Given the description of an element on the screen output the (x, y) to click on. 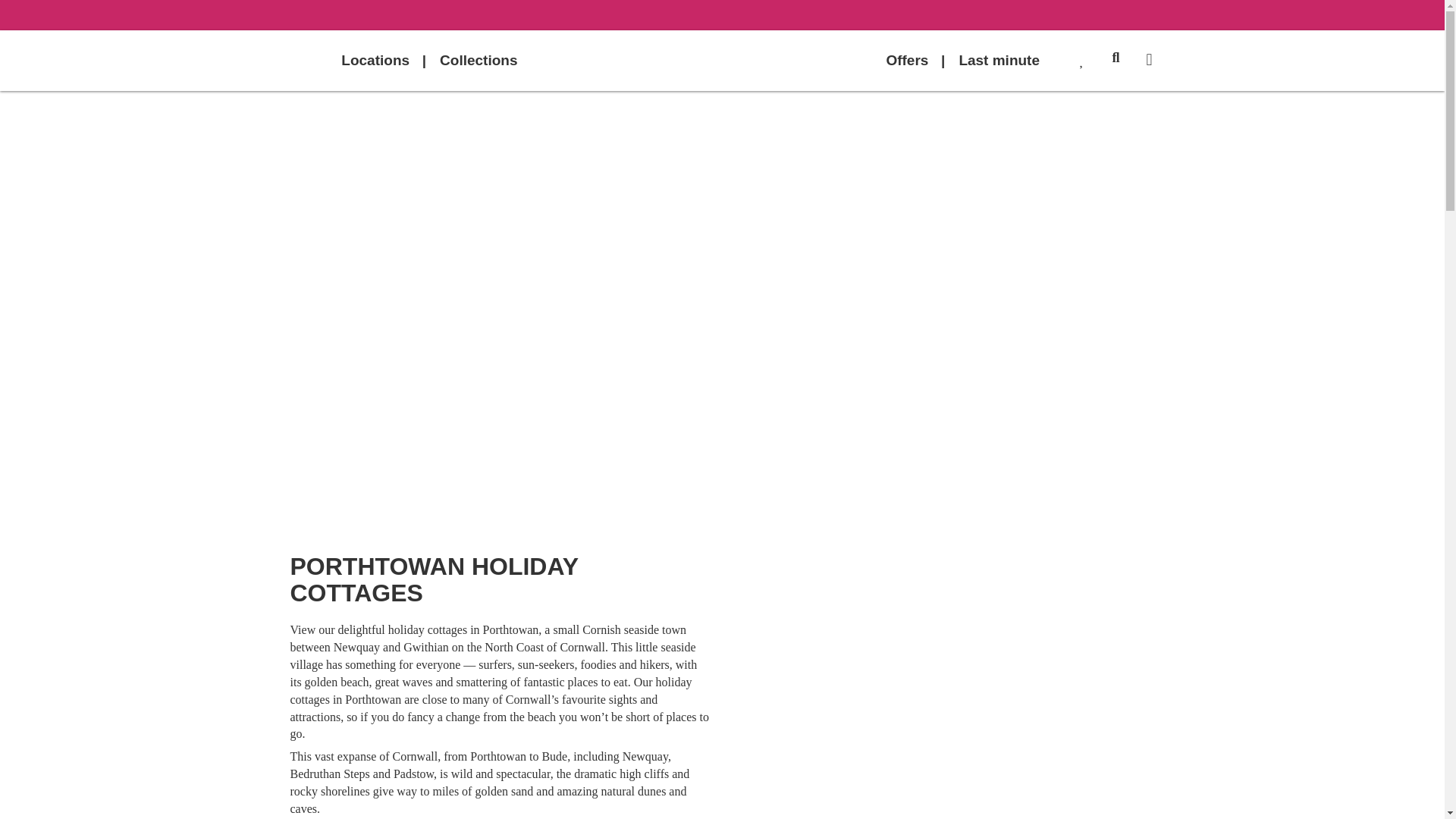
Offers (906, 59)
Forever Cornwall - Unique Retreats (721, 60)
Collections (478, 59)
Locations (375, 59)
Last minute (998, 59)
